Given the description of an element on the screen output the (x, y) to click on. 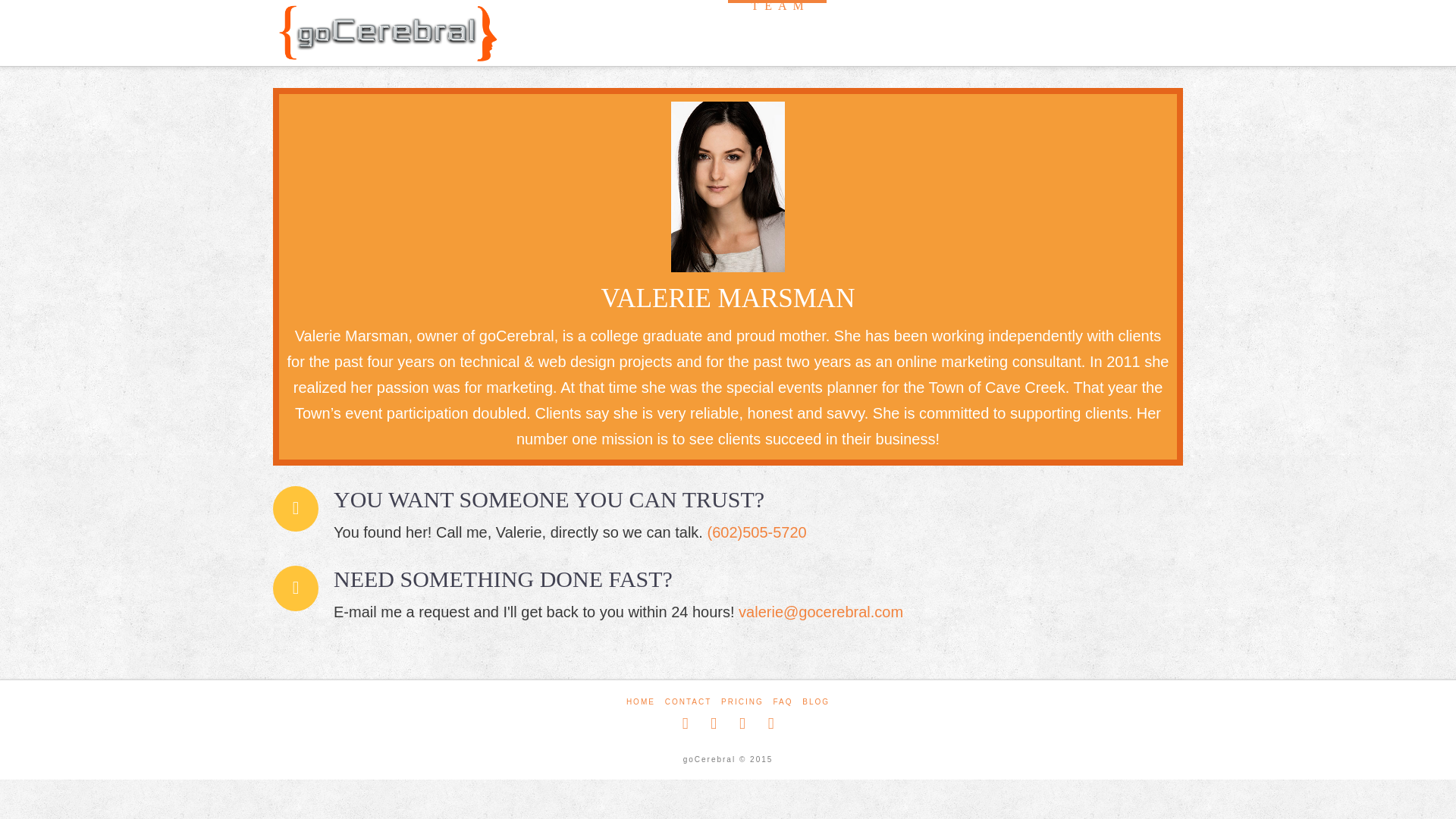
PRICING (741, 701)
BLOG (815, 701)
SERVICES (899, 26)
TEAM (776, 26)
PORTFOLIO (1051, 26)
LinkedIn (742, 723)
Click Here! (727, 317)
FAQ (783, 701)
HOME (640, 701)
Facebook (685, 723)
Pinterest (771, 723)
Twitter (713, 723)
CONTACT (688, 701)
Intelligently Designed Websites (386, 33)
ABOUT (671, 26)
